Given the description of an element on the screen output the (x, y) to click on. 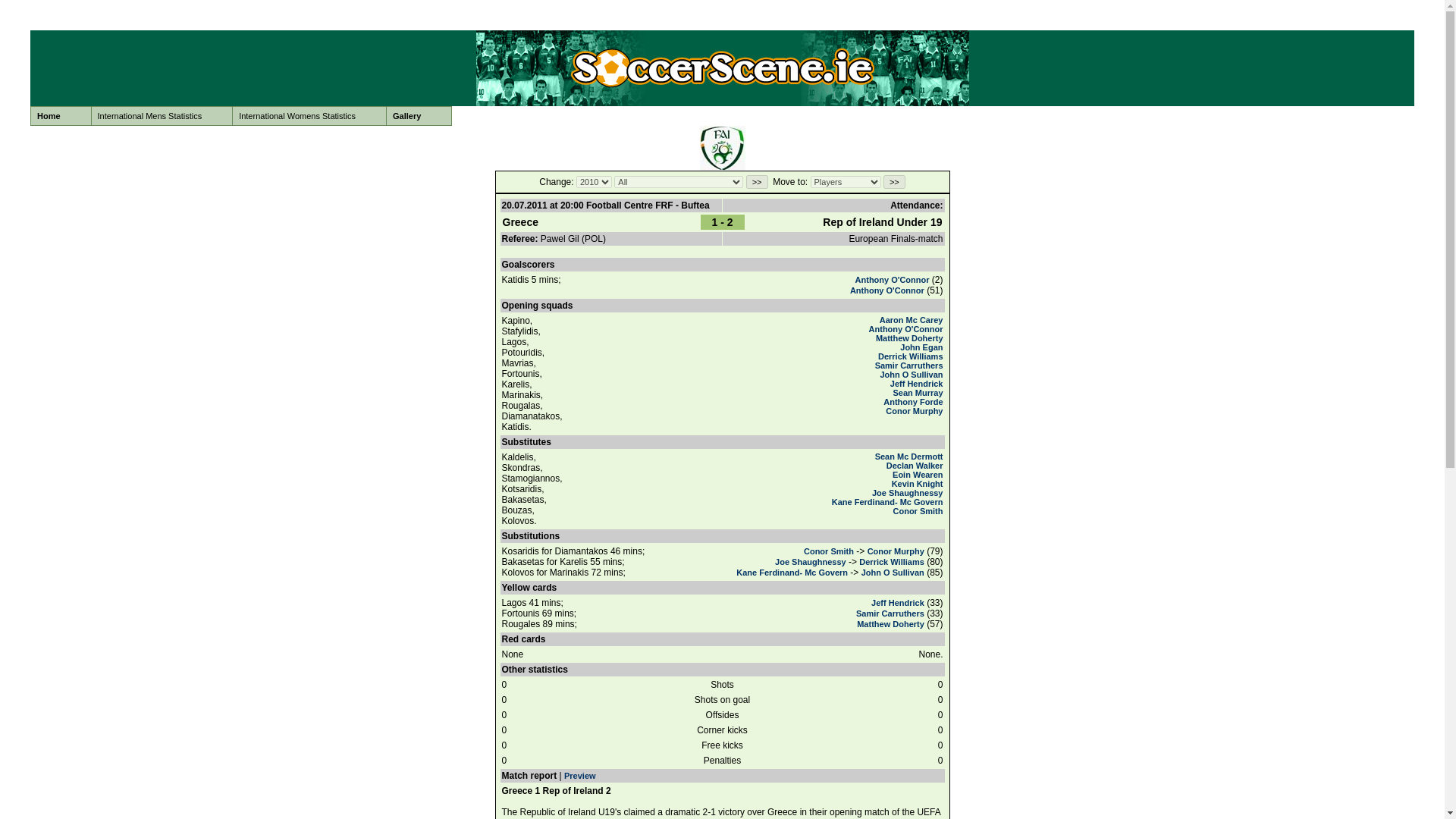
Home (60, 116)
International Womens Statistics (309, 116)
International Mens Statistics (161, 116)
